Given the description of an element on the screen output the (x, y) to click on. 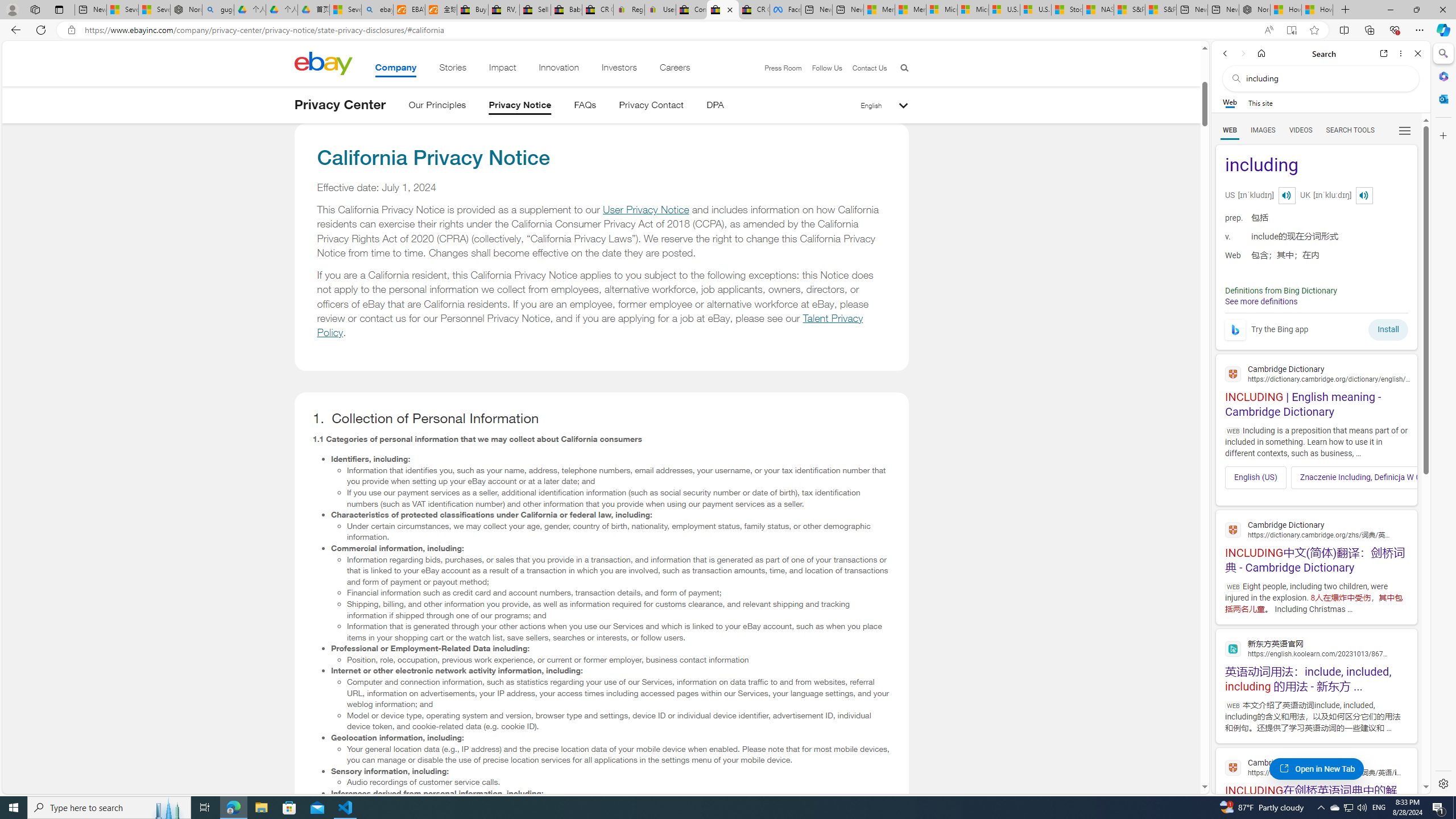
Consumer Health Data Privacy Policy - eBay Inc. (691, 9)
User Privacy Notice | eBay (660, 9)
VIDEOS (1300, 130)
Register: Create a personal eBay account (628, 9)
including (1315, 165)
Side bar (1443, 418)
Privacy Center (339, 104)
Facebook (785, 9)
U.S. State Privacy Disclosures - eBay Inc. (722, 9)
